Given the description of an element on the screen output the (x, y) to click on. 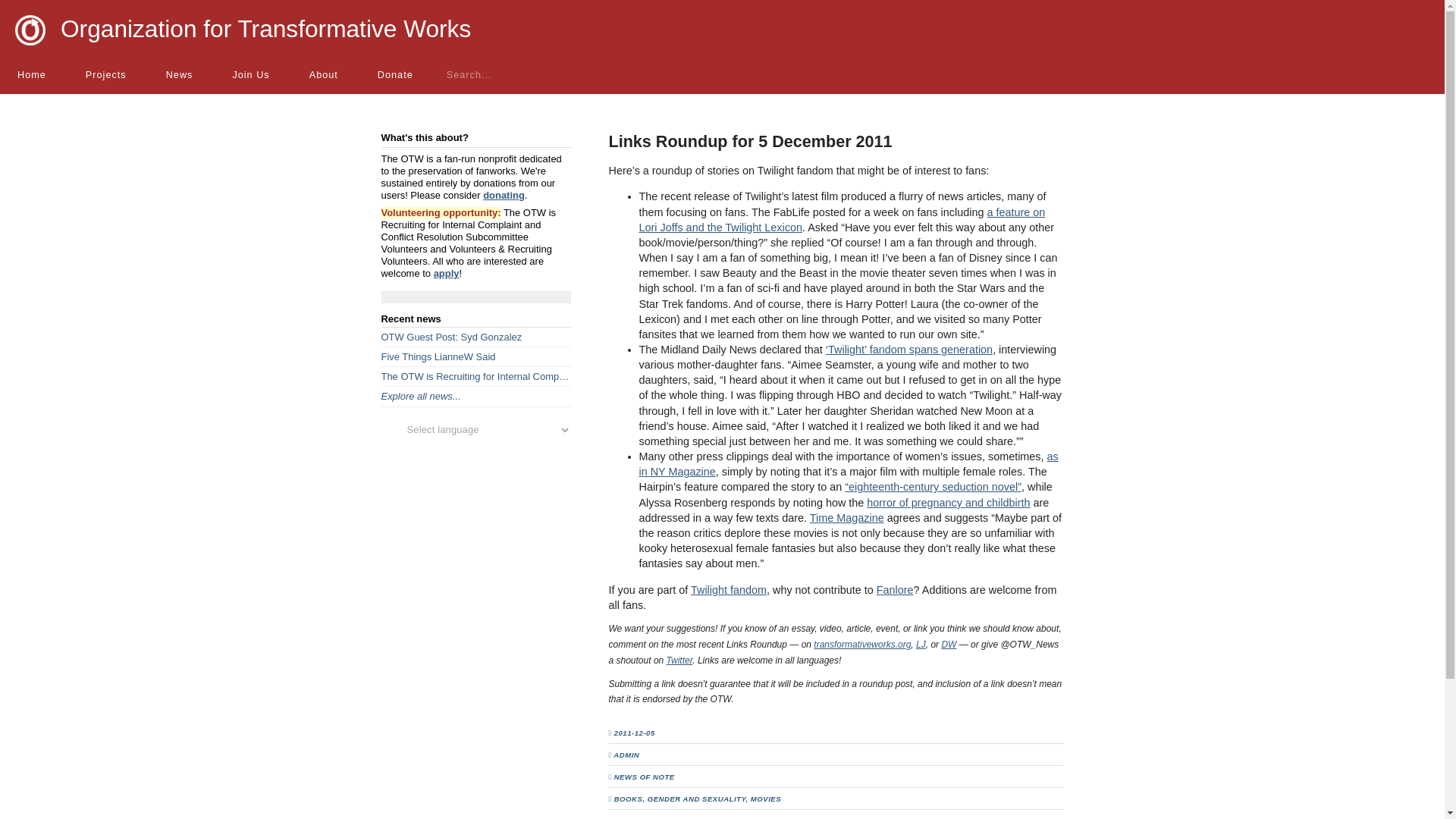
Search for: (484, 74)
apply (446, 273)
18:59 (638, 732)
Projects (104, 74)
Join Us (249, 74)
donating (503, 194)
View all posts by admin (625, 755)
Donate (394, 74)
horror of pregnancy and childbirth (947, 502)
OTW Guest Post: Syd Gonzalez (475, 337)
Five Things LianneW Said (475, 356)
Home (32, 74)
News (178, 74)
as in NY Magazine (848, 463)
Home (32, 74)
